Given the description of an element on the screen output the (x, y) to click on. 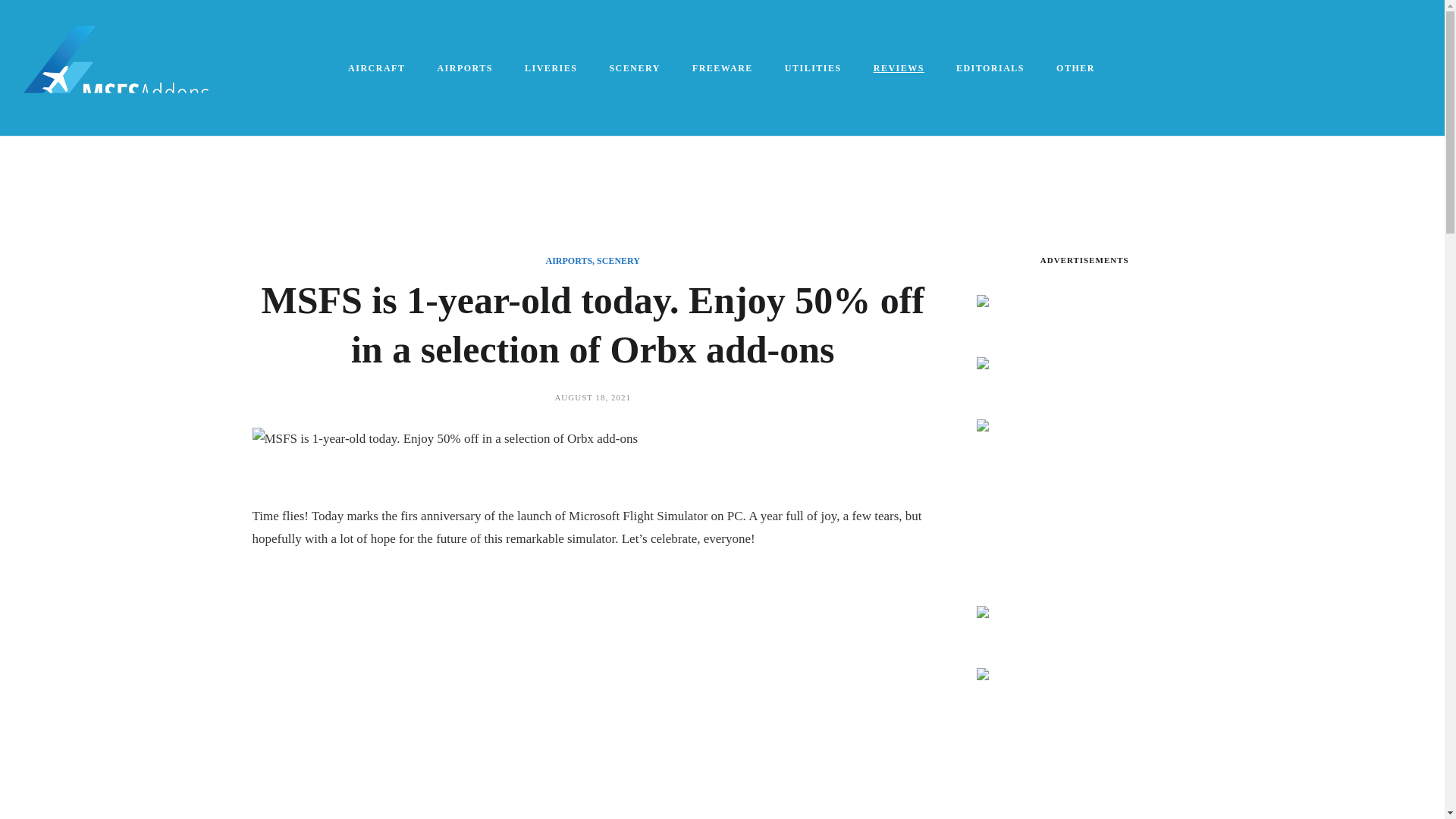
AIRPORTS (568, 260)
SCENERY (618, 260)
LIVERIES (551, 68)
EDITORIALS (990, 68)
SCENERY (635, 68)
OTHER (1076, 68)
UTILITIES (814, 68)
AIRCRAFT (377, 68)
REVIEWS (899, 68)
AIRPORTS (465, 68)
